Given the description of an element on the screen output the (x, y) to click on. 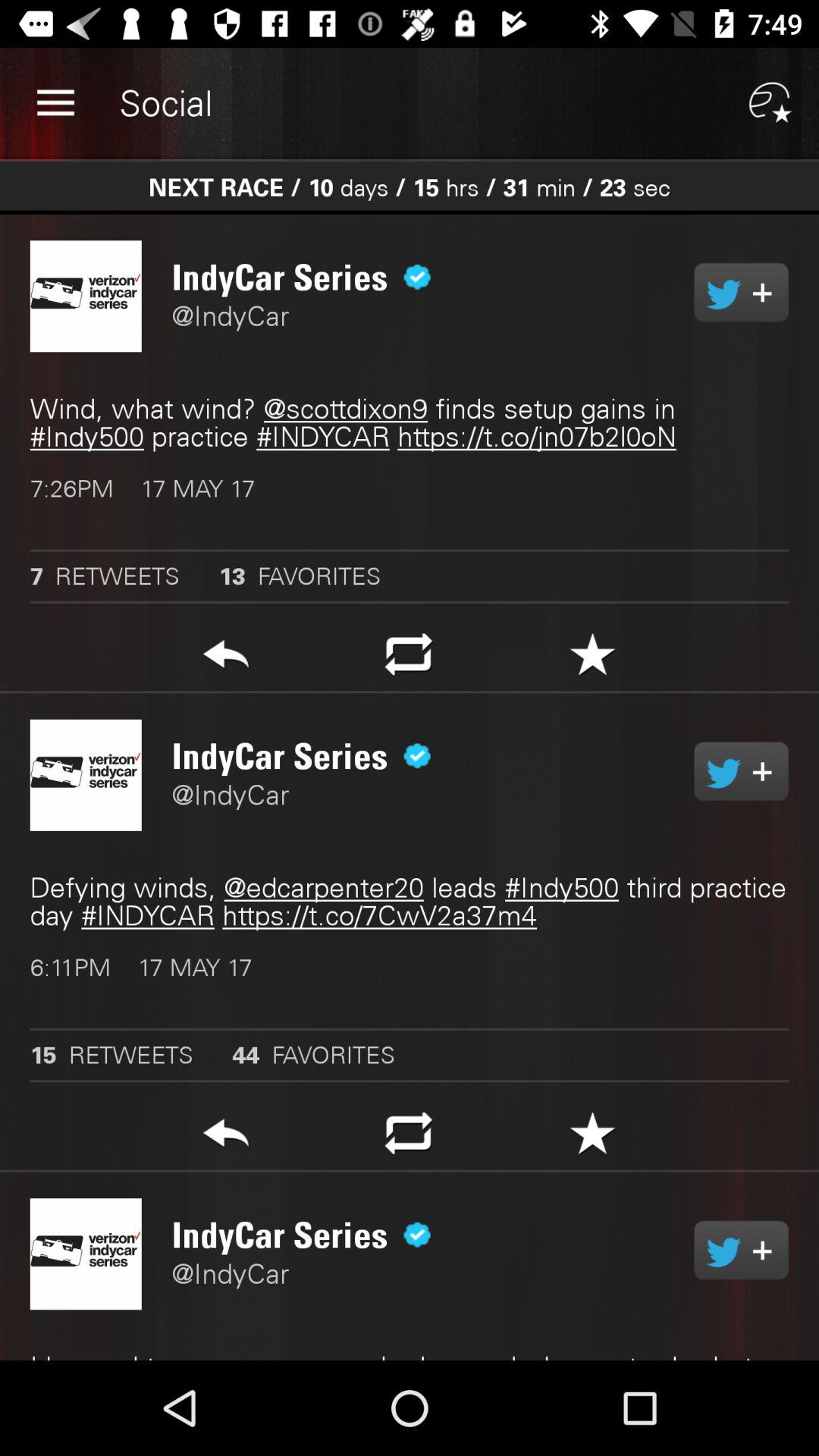
select reply (225, 1137)
